Given the description of an element on the screen output the (x, y) to click on. 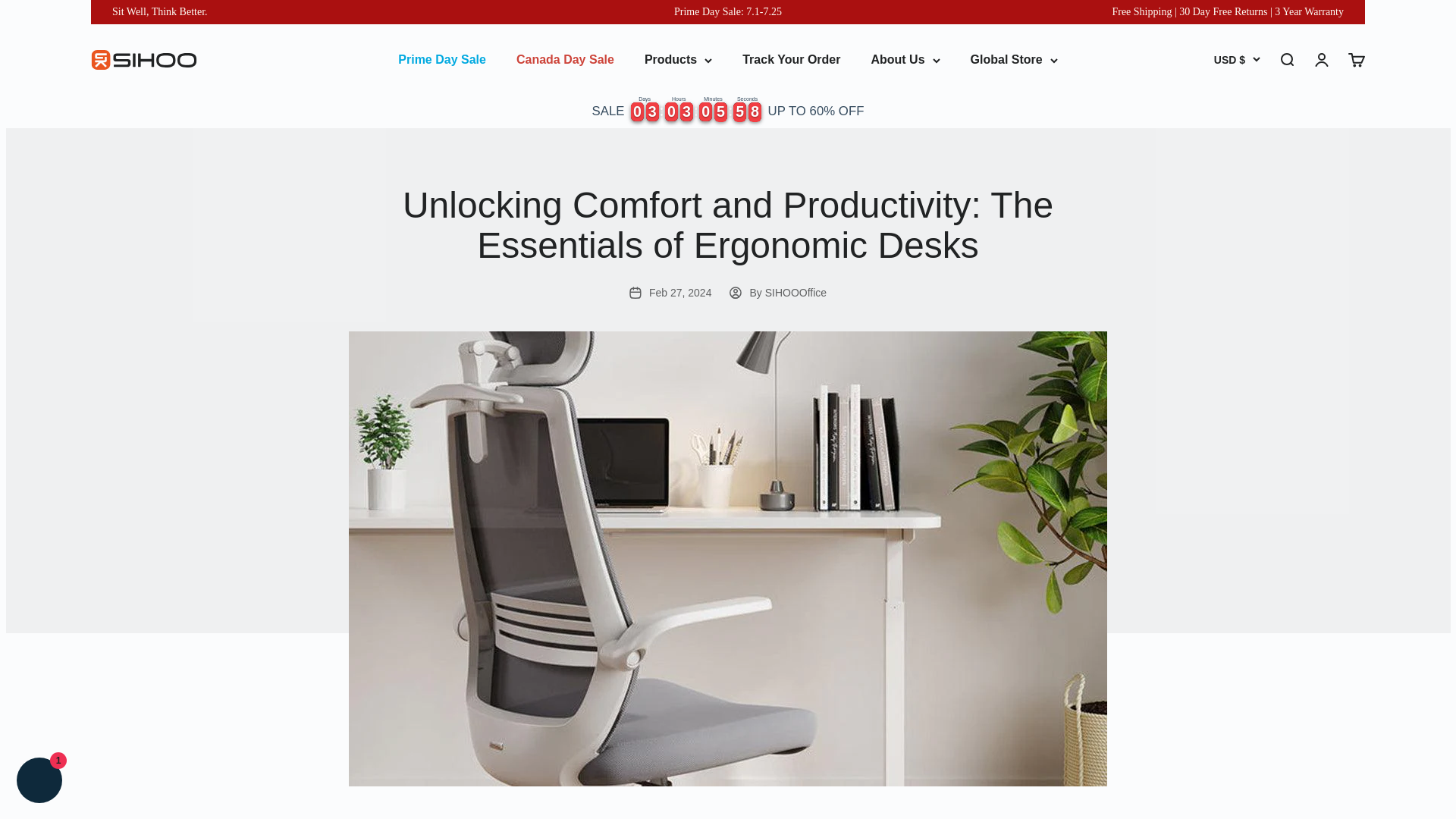
Shopify online store chat (38, 781)
Prime Day Sale (441, 59)
Canada Day Sale (565, 59)
Track Your Order (791, 59)
